Given the description of an element on the screen output the (x, y) to click on. 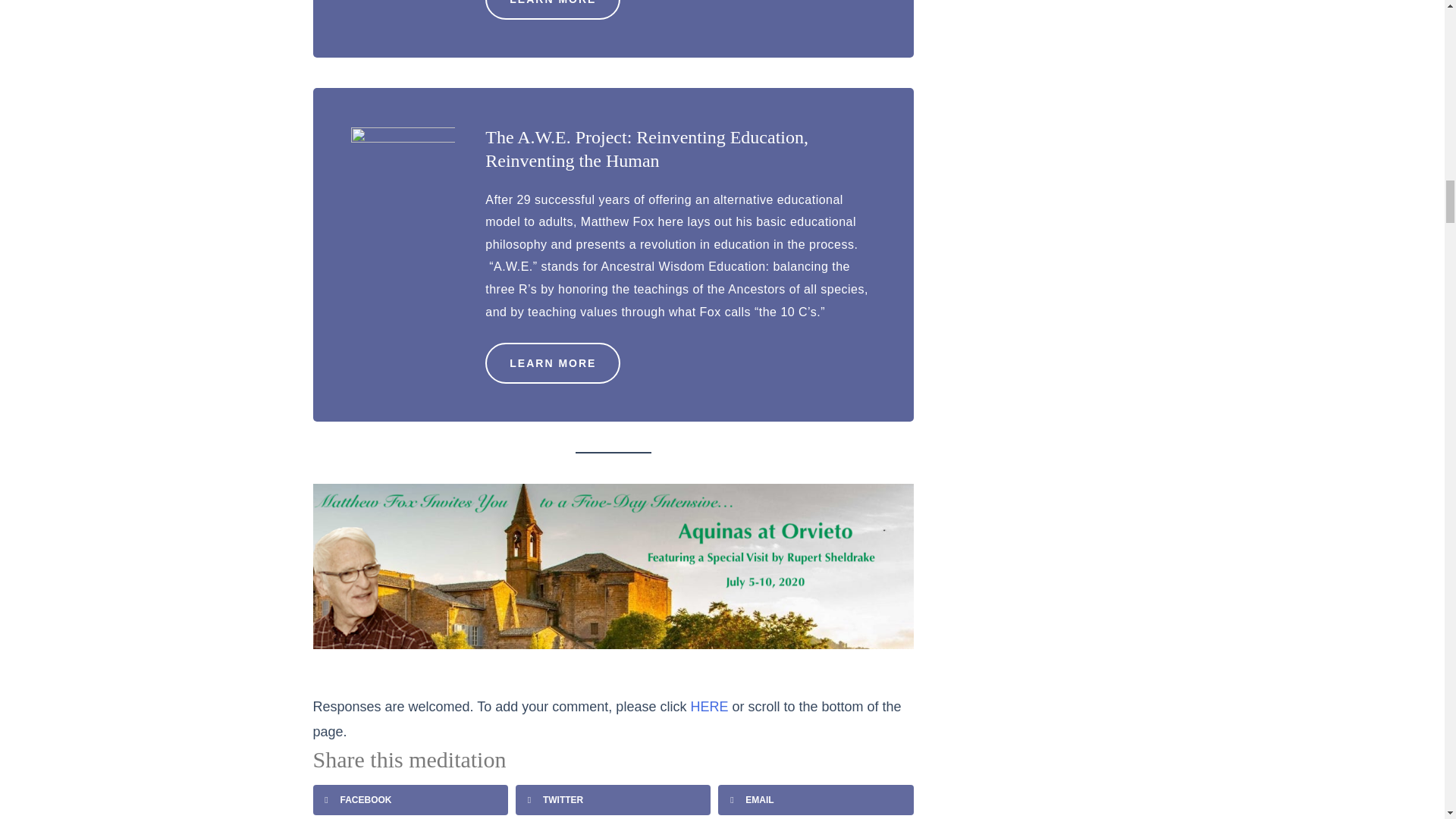
LEARN MORE (552, 363)
LEARN MORE (552, 9)
HERE (709, 706)
